Given the description of an element on the screen output the (x, y) to click on. 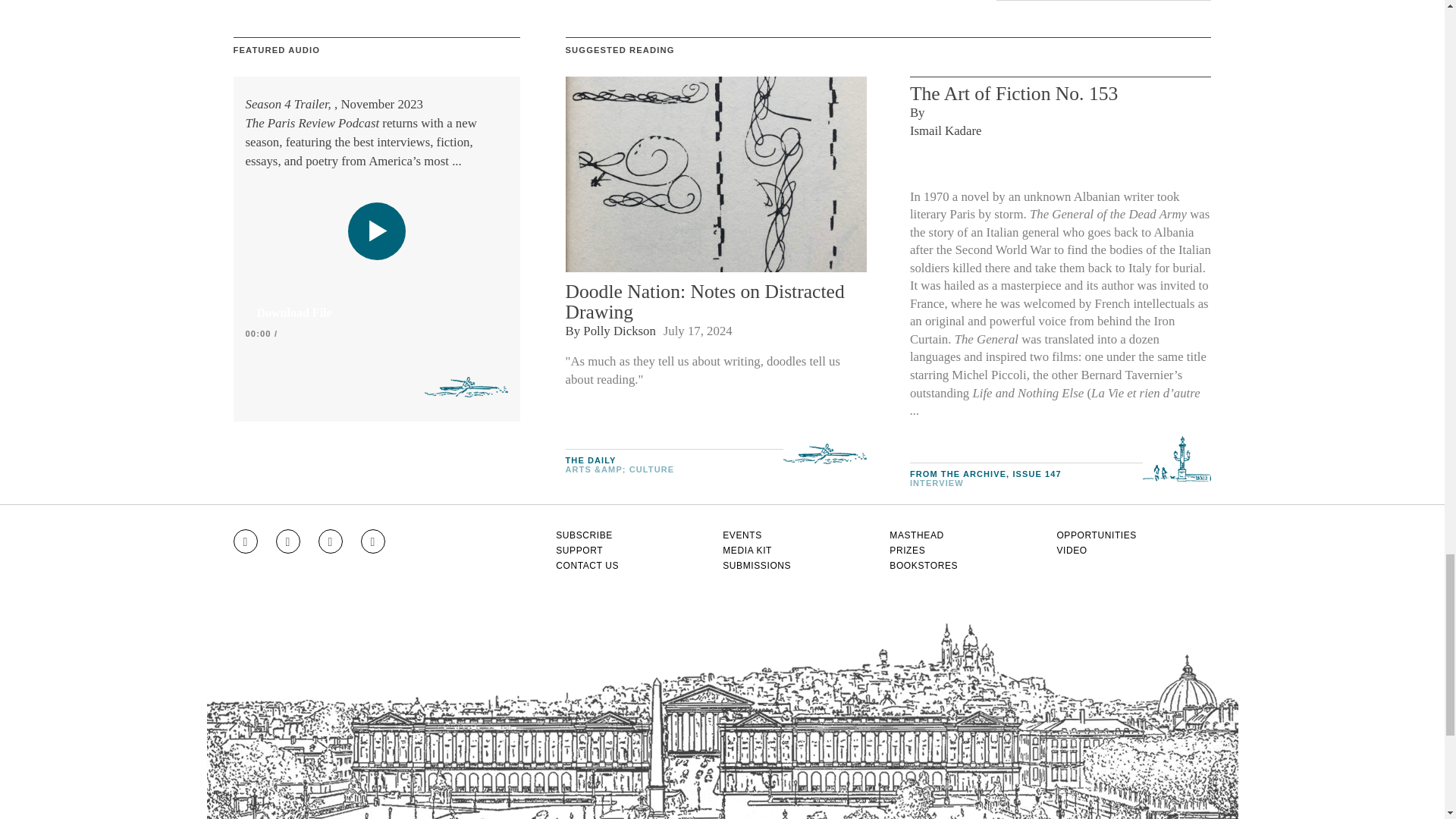
Go to Facebook page (287, 541)
Go to RSS feed (373, 541)
Go to Instagram feed (244, 541)
Go to Twitter feed (330, 541)
